Given the description of an element on the screen output the (x, y) to click on. 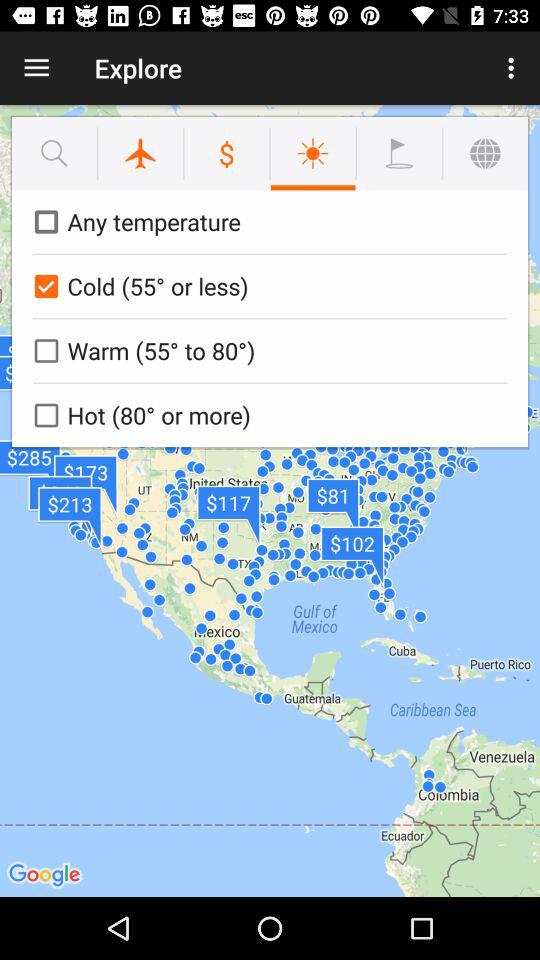
swipe to warm 55 to item (266, 350)
